Given the description of an element on the screen output the (x, y) to click on. 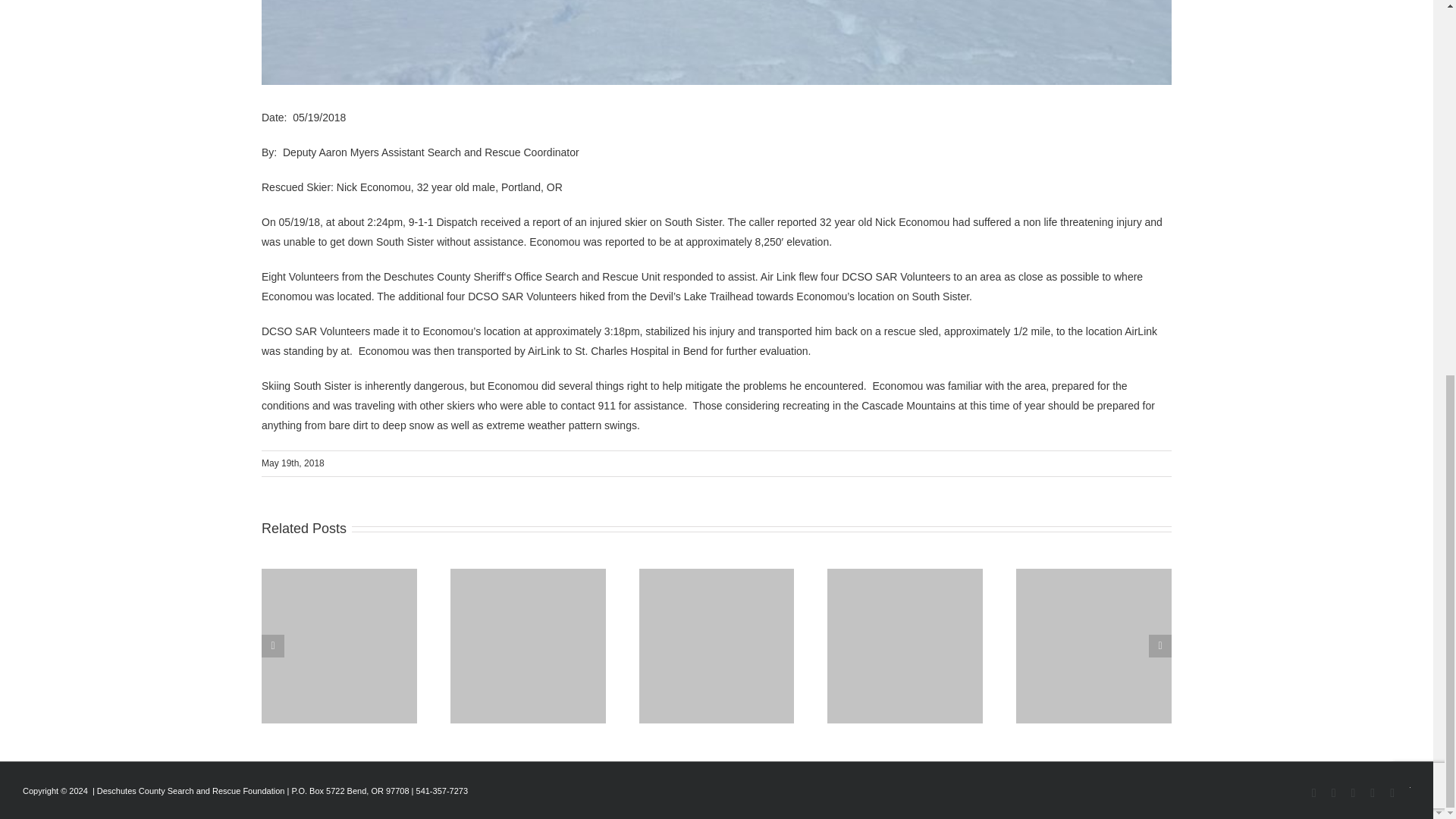
South Sister Rescue (717, 42)
